Given the description of an element on the screen output the (x, y) to click on. 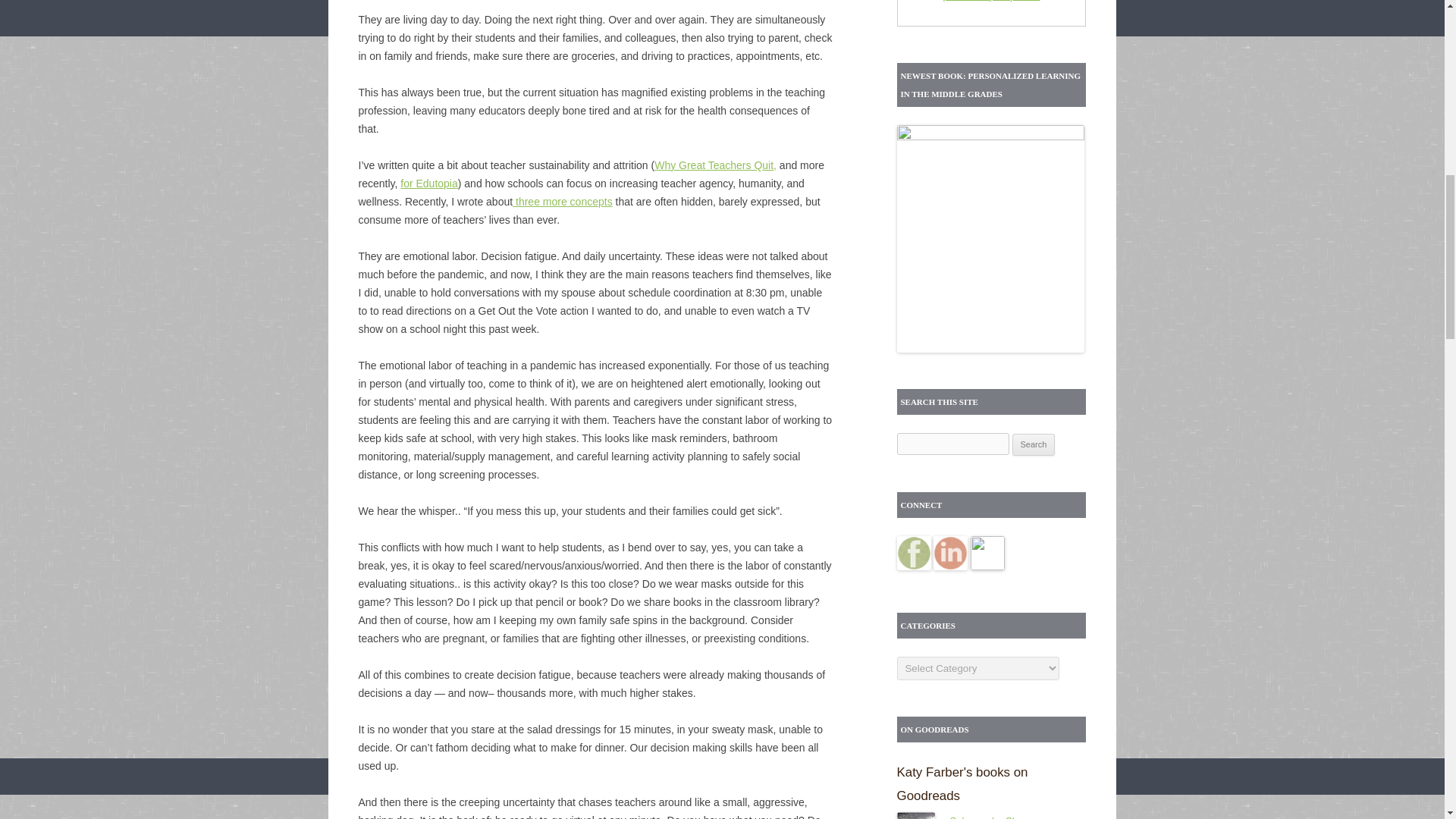
for Edutopia (429, 183)
Search (1033, 445)
Why Great Teachers Quit, (714, 164)
Salamander Sky (922, 815)
three more concepts (562, 201)
